Given the description of an element on the screen output the (x, y) to click on. 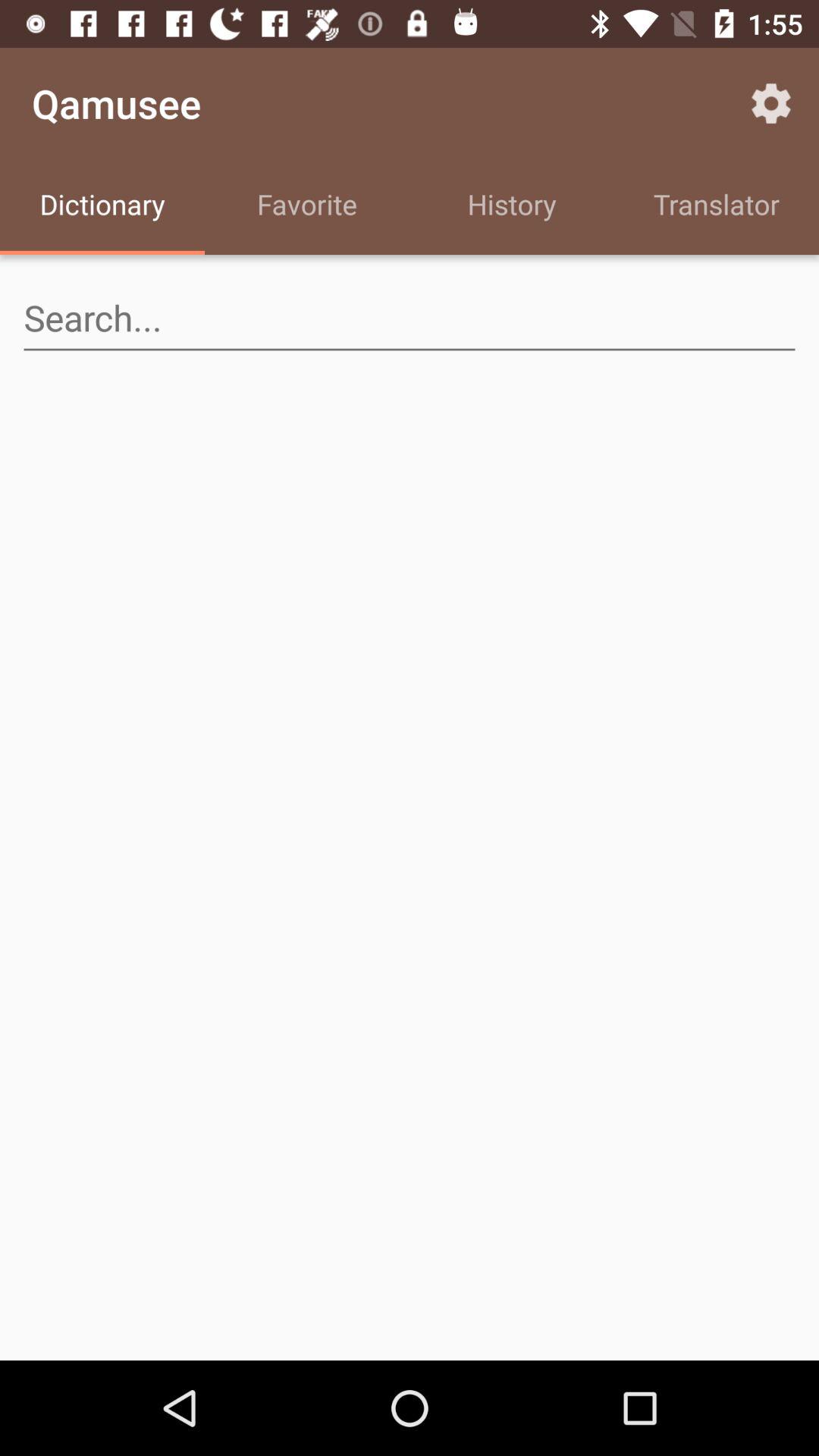
seach bar (409, 318)
